Given the description of an element on the screen output the (x, y) to click on. 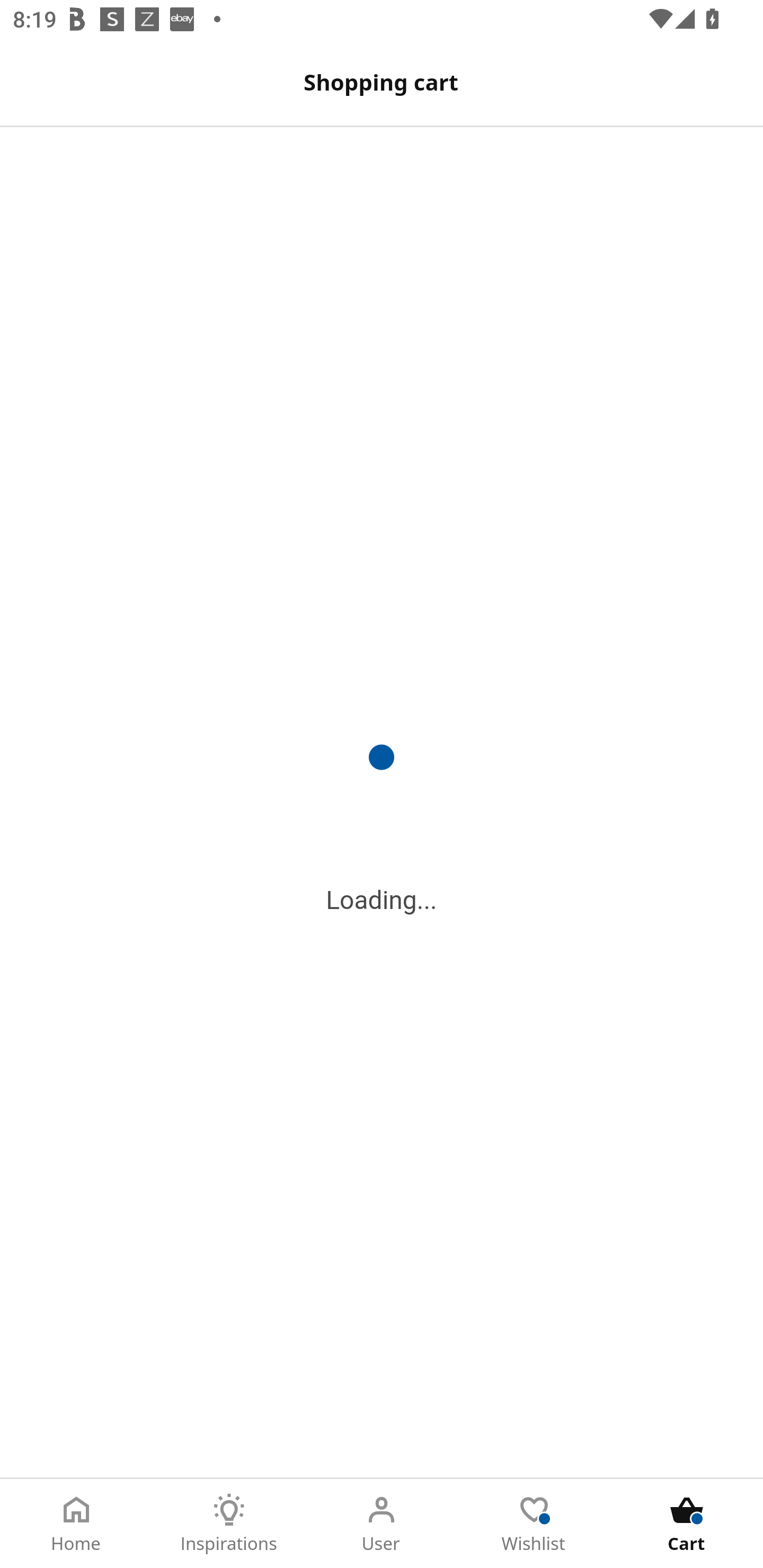
Home
Tab 1 of 5 (76, 1522)
Inspirations
Tab 2 of 5 (228, 1522)
User
Tab 3 of 5 (381, 1522)
Wishlist
Tab 4 of 5 (533, 1522)
Cart
Tab 5 of 5 (686, 1522)
